Given the description of an element on the screen output the (x, y) to click on. 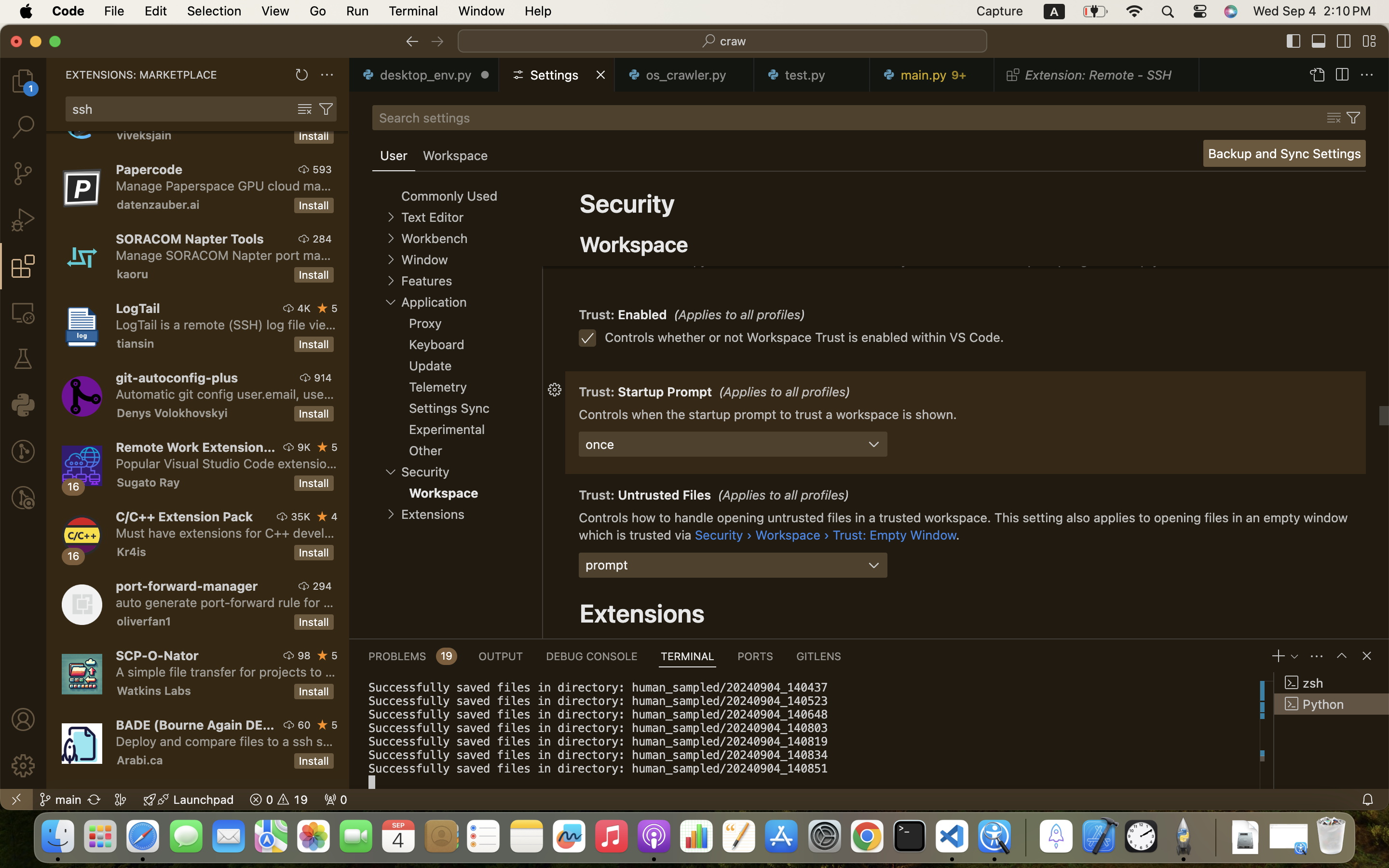
 Element type: AXCheckBox (1344, 41)
 Element type: AXButton (1366, 655)
0  Element type: AXRadioButton (23, 312)
 Element type: AXCheckBox (1341, 655)
0  Element type: AXRadioButton (23, 173)
